Given the description of an element on the screen output the (x, y) to click on. 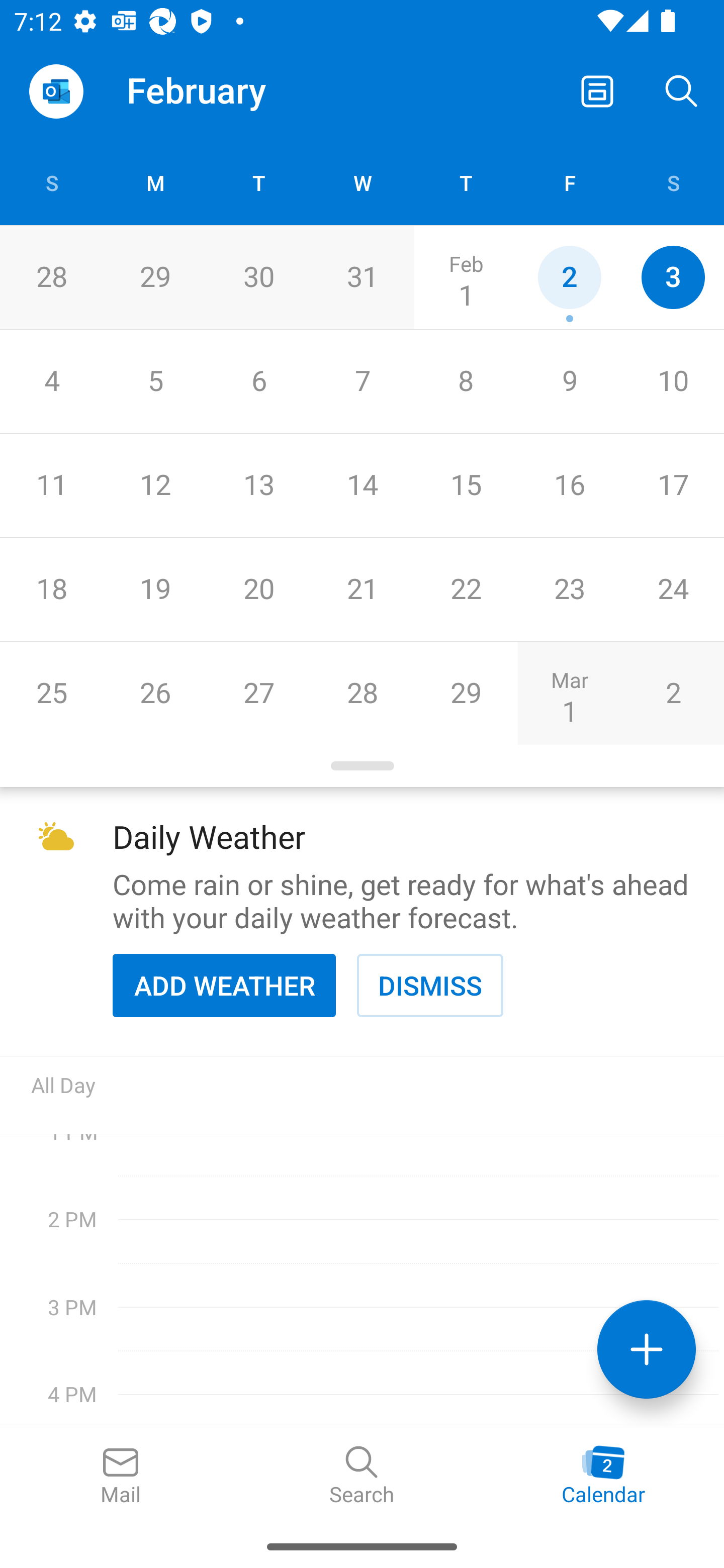
February February 2024, day picker expand (209, 90)
Switch away from Day view (597, 90)
Search (681, 90)
Open Navigation Drawer (55, 91)
28 Sunday, January 28 (51, 277)
29 Monday, January 29 (155, 277)
30 Tuesday, January 30 (258, 277)
31 Wednesday, January 31 (362, 277)
Feb
1 Thursday, February 1 (465, 277)
2 Events on Friday, February 2, today (569, 277)
3 Saturday, February 3, Selected (672, 277)
4 Sunday, February 4 (51, 380)
5 Monday, February 5 (155, 380)
6 Tuesday, February 6 (258, 380)
7 Wednesday, February 7 (362, 380)
8 Thursday, February 8 (465, 380)
9 Friday, February 9 (569, 380)
10 Saturday, February 10 (672, 380)
11 Sunday, February 11 (51, 485)
12 Monday, February 12 (155, 485)
13 Tuesday, February 13 (258, 485)
14 Wednesday, February 14 (362, 485)
15 Thursday, February 15 (465, 485)
16 Friday, February 16 (569, 485)
17 Saturday, February 17 (672, 485)
18 Sunday, February 18 (51, 589)
19 Monday, February 19 (155, 589)
20 Tuesday, February 20 (258, 589)
21 Wednesday, February 21 (362, 589)
22 Thursday, February 22 (465, 589)
23 Friday, February 23 (569, 589)
24 Saturday, February 24 (672, 589)
25 Sunday, February 25 (51, 692)
26 Monday, February 26 (155, 692)
27 Tuesday, February 27 (258, 692)
28 Wednesday, February 28 (362, 692)
29 Thursday, February 29 (465, 692)
Mar
1 Friday, March 1 (569, 692)
2 Saturday, March 2 (672, 692)
Day picker collapse (362, 765)
ADD WEATHER (224, 985)
DISMISS (429, 985)
Add new event (646, 1348)
Mail (120, 1475)
Search (361, 1475)
